Given the description of an element on the screen output the (x, y) to click on. 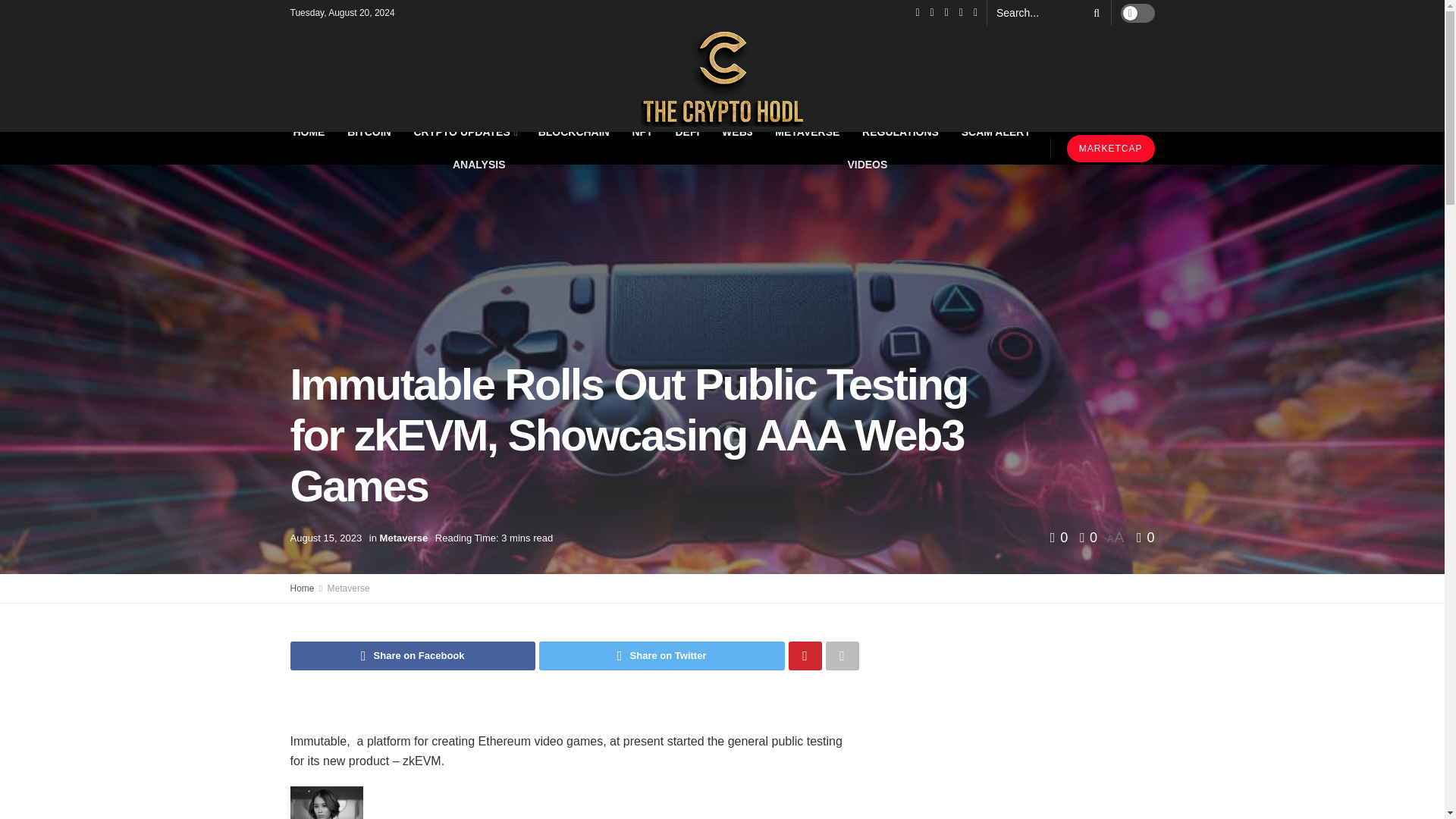
DEFI (687, 131)
BITCOIN (368, 131)
ANALYSIS (477, 164)
BLOCKCHAIN (573, 131)
REGULATIONS (900, 131)
MARKETCAP (1110, 148)
WEB3 (737, 131)
CRYPTO UPDATES (464, 131)
VIDEOS (866, 164)
METAVERSE (807, 131)
